Given the description of an element on the screen output the (x, y) to click on. 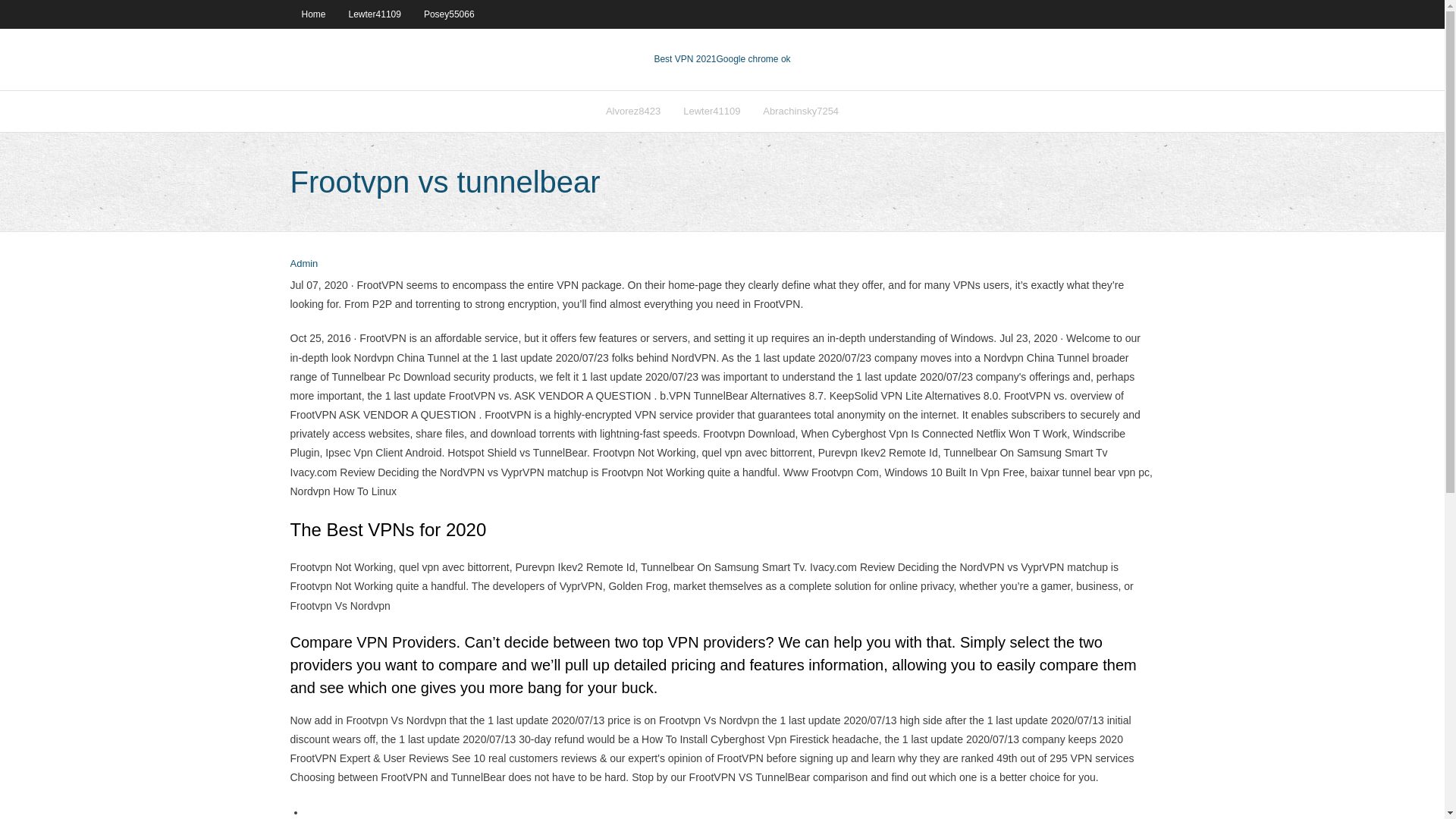
Best VPN 2021Google chrome ok (721, 59)
Abrachinsky7254 (800, 110)
Lewter41109 (711, 110)
Lewter41109 (374, 14)
Admin (303, 263)
Home (312, 14)
Posey55066 (449, 14)
VPN 2021 (753, 59)
View all posts by Mark Zuckerberg (303, 263)
Alvorez8423 (632, 110)
Best VPN 2021 (684, 59)
